Given the description of an element on the screen output the (x, y) to click on. 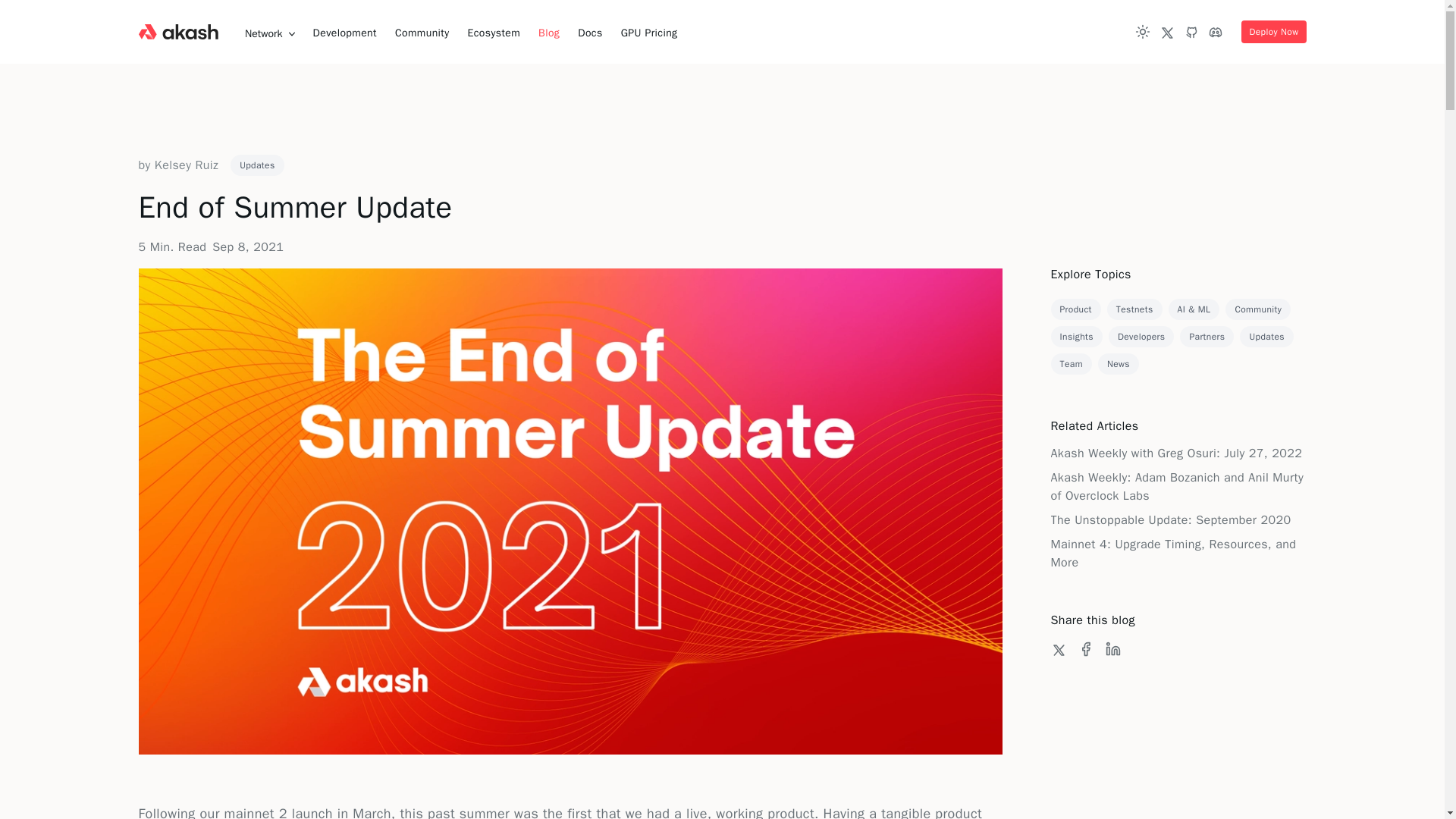
Development (345, 33)
Network (269, 33)
Docs (590, 33)
Community (421, 33)
Updates (256, 165)
Deploy Now (1273, 31)
Ecosystem (493, 33)
Blog (548, 33)
GPU Pricing (649, 33)
